Given the description of an element on the screen output the (x, y) to click on. 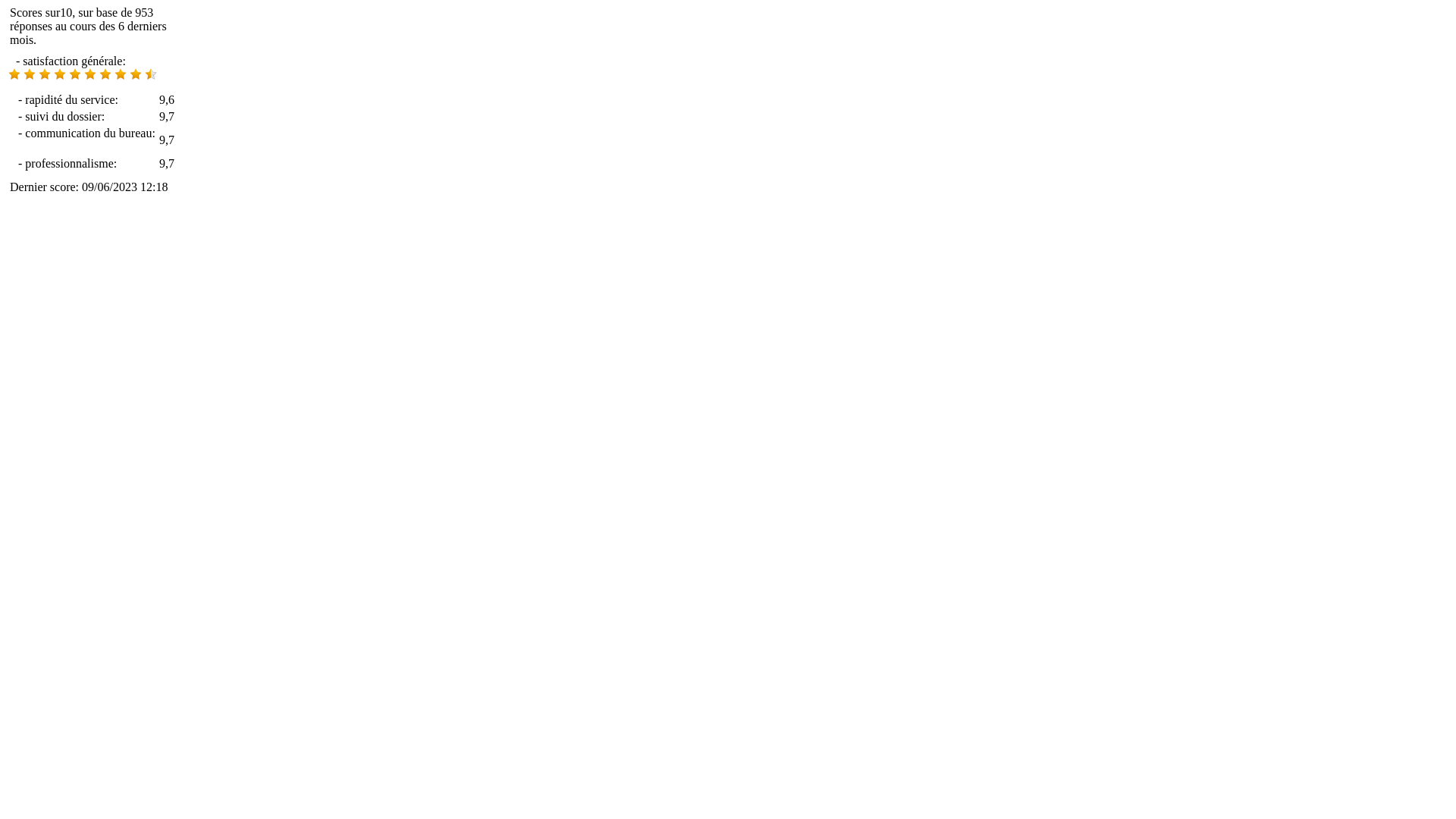
9.6715634837356 Element type: hover (90, 74)
9.6715634837356 Element type: hover (44, 74)
9.6715634837356 Element type: hover (75, 74)
9.6715634837356 Element type: hover (120, 74)
9.6715634837356 Element type: hover (135, 74)
9.6715634837356 Element type: hover (59, 74)
9.6715634837356 Element type: hover (150, 74)
9.6715634837356 Element type: hover (14, 74)
9.6715634837356 Element type: hover (89, 75)
9.6715634837356 Element type: hover (29, 74)
9.6715634837356 Element type: hover (105, 74)
